Given the description of an element on the screen output the (x, y) to click on. 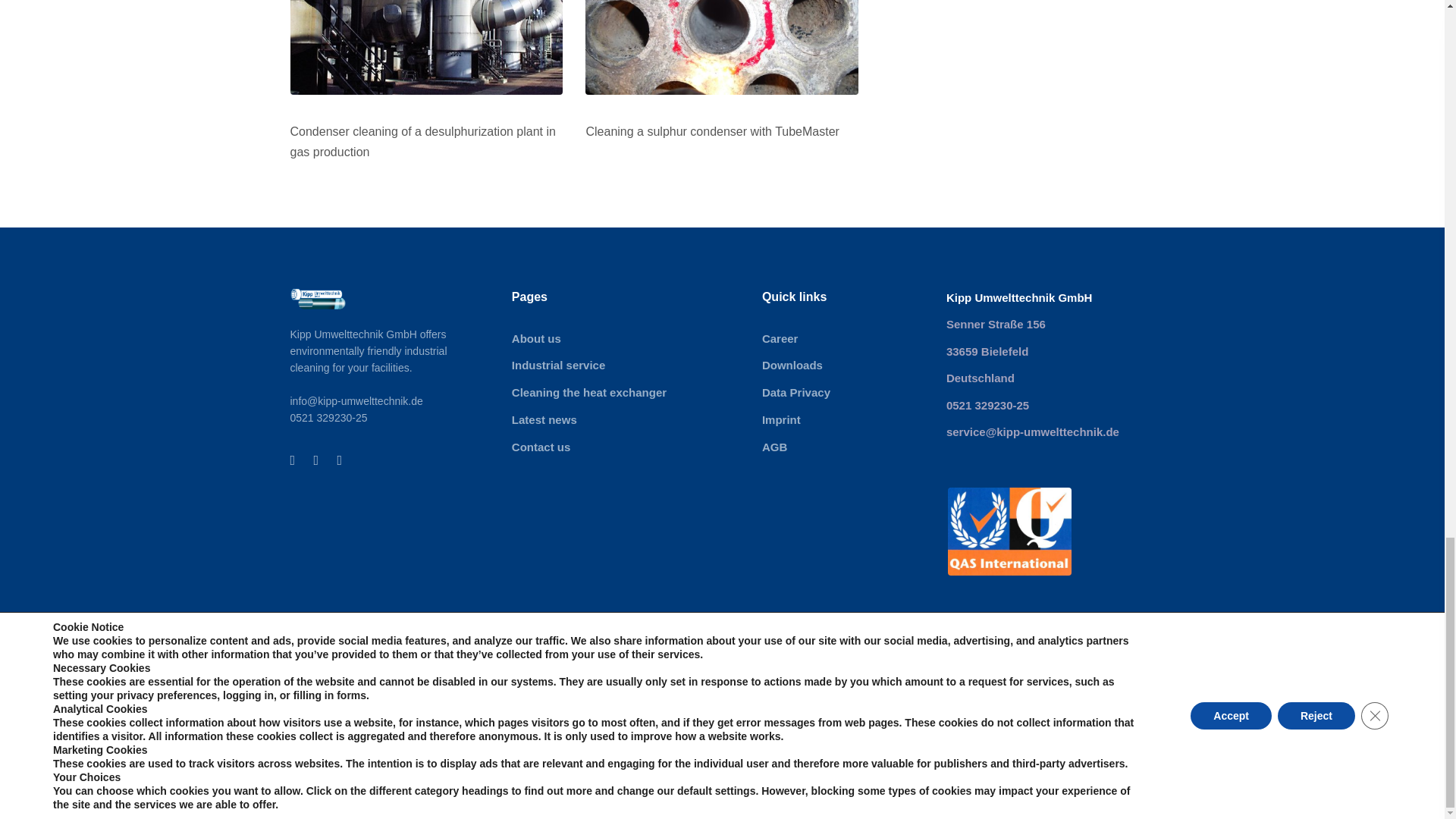
About us (589, 338)
Latest news (589, 419)
Contact us (589, 447)
Downloads (795, 365)
Industrial service (589, 365)
Cleaning the heat exchanger (589, 392)
Career (795, 338)
